Given the description of an element on the screen output the (x, y) to click on. 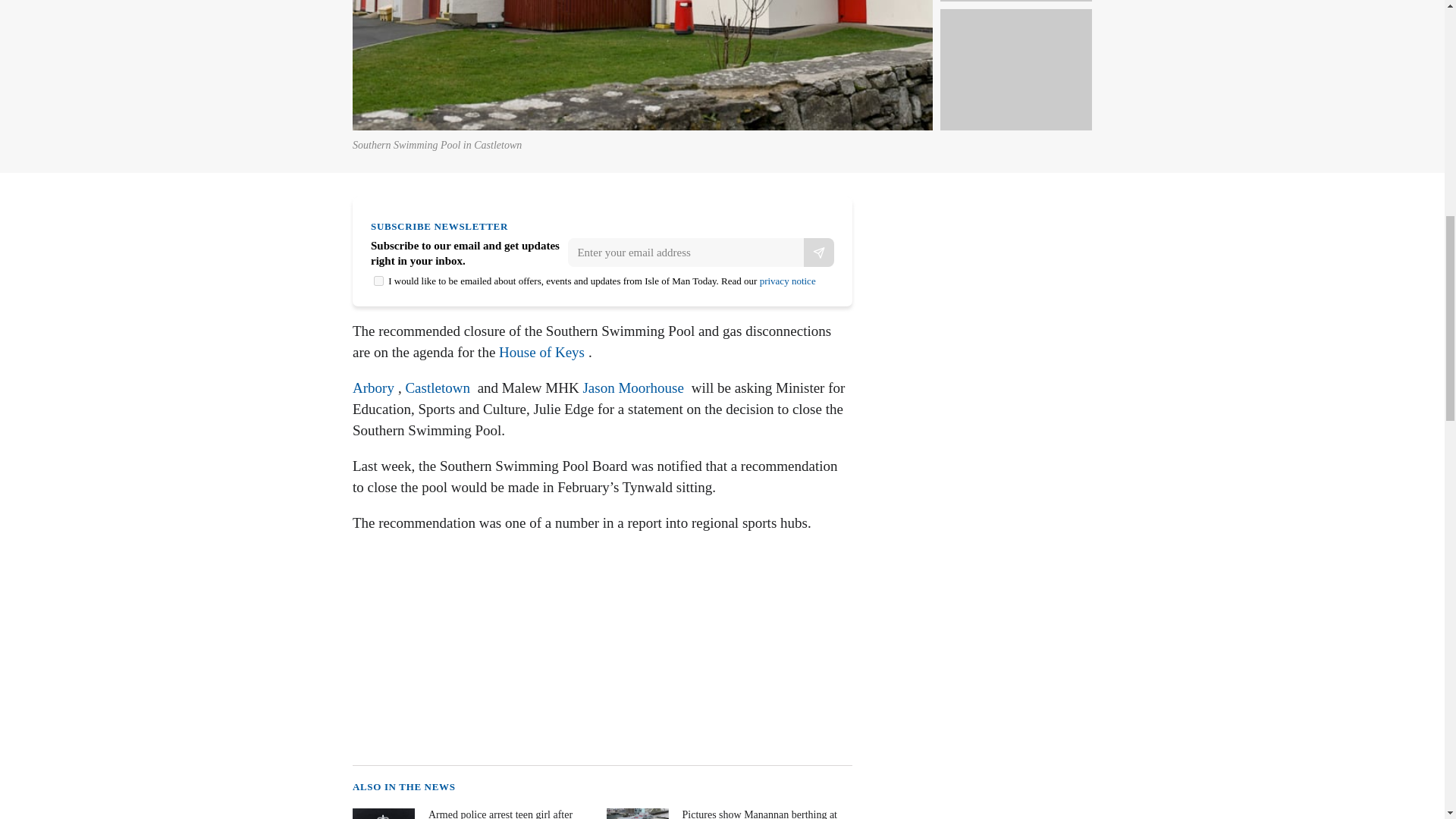
privacy notice (787, 280)
Jason Moorhouse (633, 387)
House of Keys (542, 351)
Arbory (373, 387)
Castletown (437, 387)
